Given the description of an element on the screen output the (x, y) to click on. 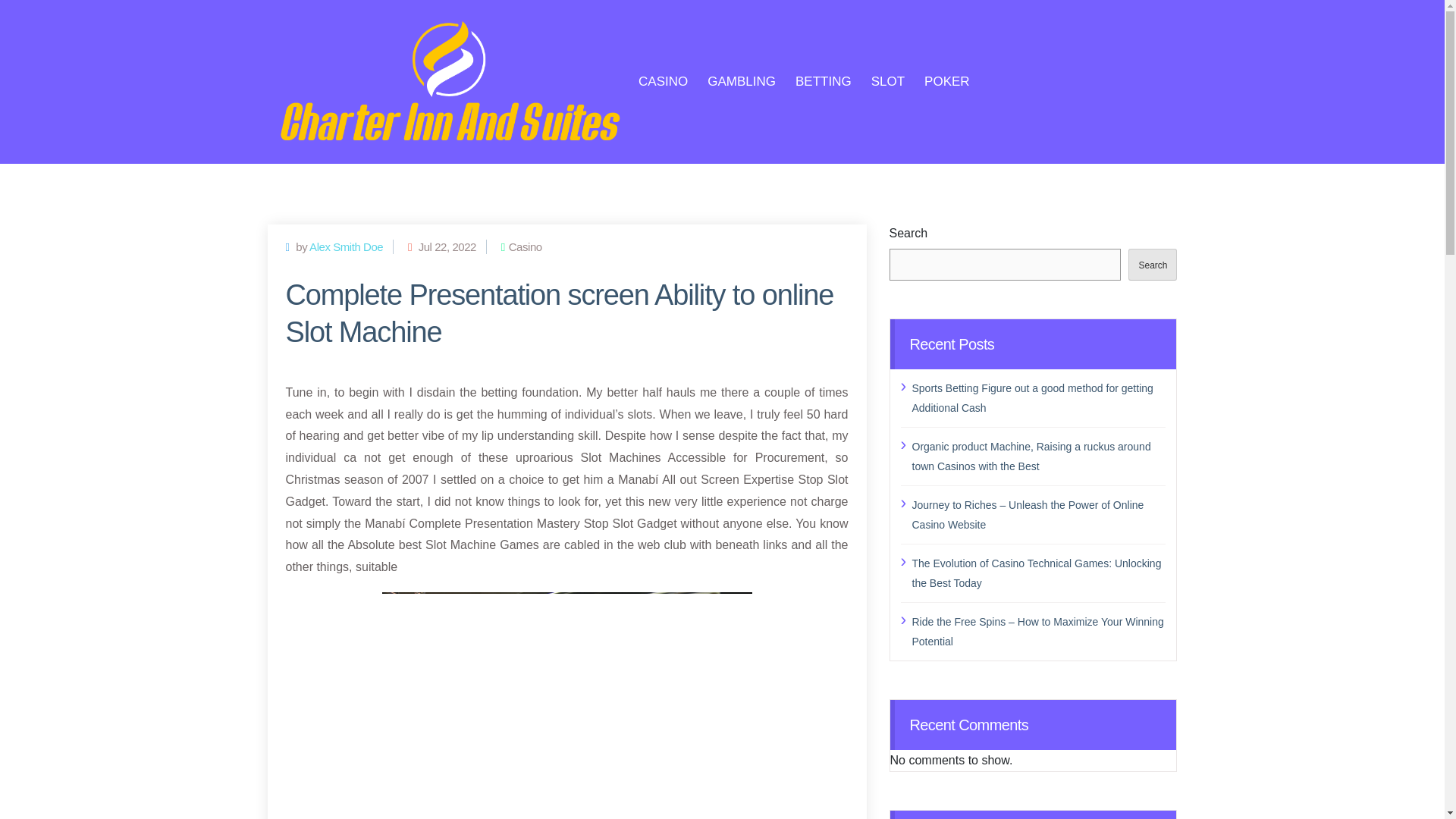
BETTING (822, 81)
CASINO (663, 81)
GAMBLING (741, 81)
POKER (946, 81)
Alex Smith Doe (345, 246)
Search (1152, 264)
